Given the description of an element on the screen output the (x, y) to click on. 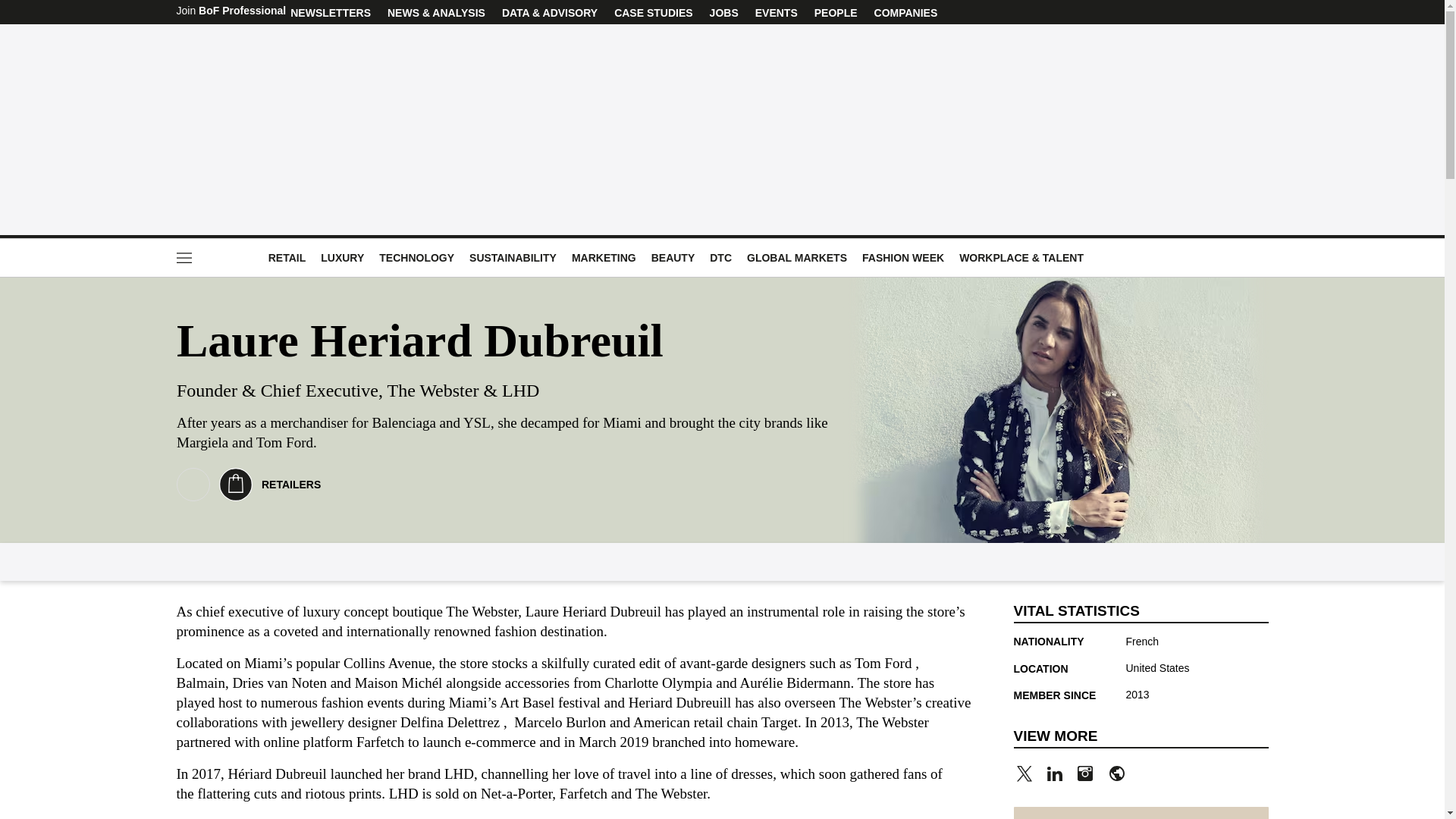
PEOPLE (836, 12)
CASE STUDIES (652, 12)
JOBS (724, 12)
Join BoF Professional (230, 12)
COMPANIES (906, 12)
NEWSLETTERS (330, 12)
EVENTS (775, 12)
